Given the description of an element on the screen output the (x, y) to click on. 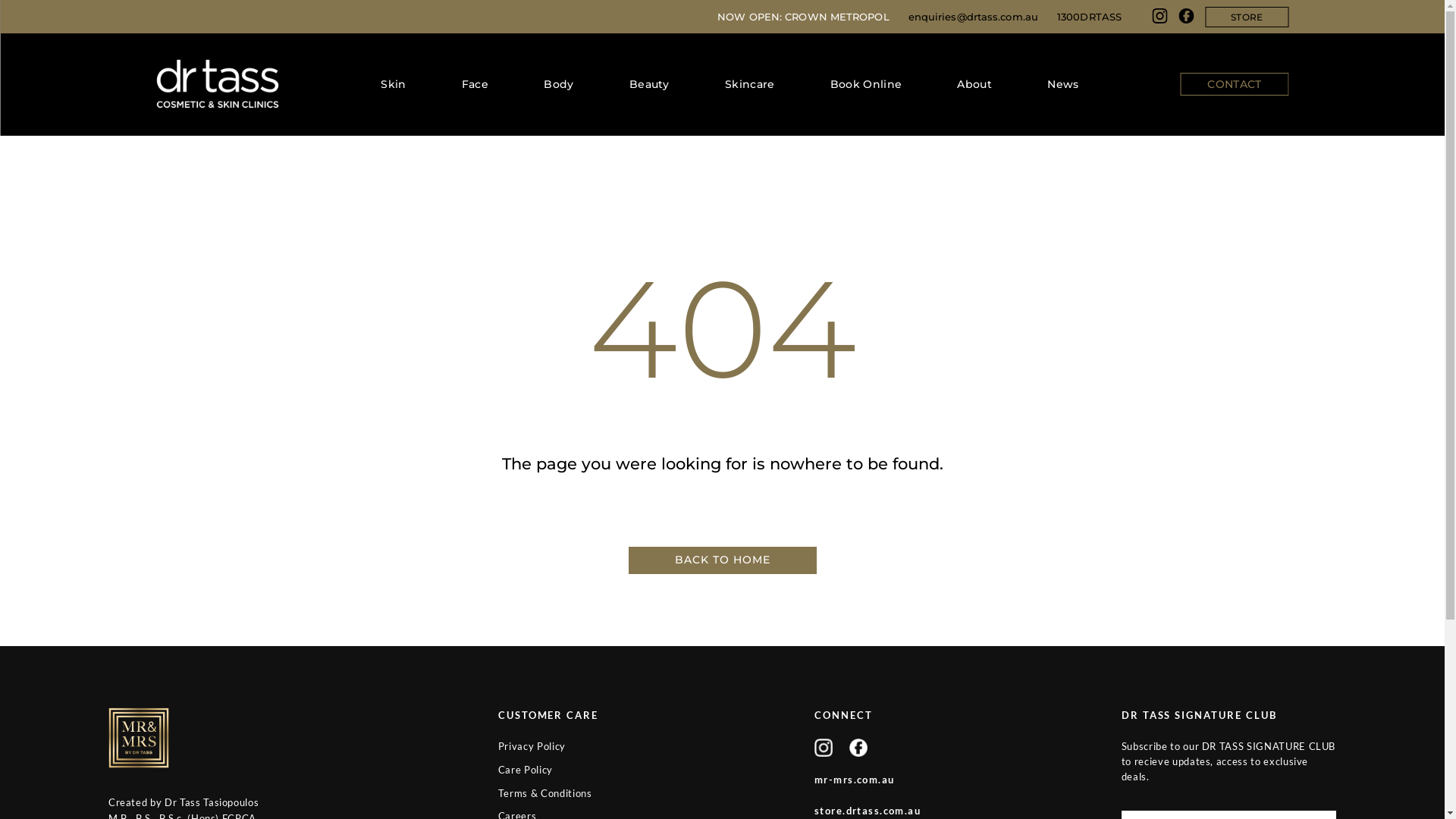
NOW OPEN: CROWN METROPOL Element type: text (802, 16)
Book Online Element type: text (865, 83)
Skin Element type: text (392, 83)
About Element type: text (974, 83)
STORE Element type: text (1246, 16)
Skincare Element type: text (749, 83)
Terms & Conditions Element type: text (545, 793)
Beauty Element type: text (649, 83)
Care Policy Element type: text (525, 769)
1300DRTASS Element type: text (1089, 16)
Body Element type: text (558, 83)
store.drtass.com.au Element type: text (867, 810)
BACK TO HOME Element type: text (721, 560)
enquiries@drtass.com.au Element type: text (973, 16)
Face Element type: text (474, 83)
CONTACT Element type: text (1233, 83)
mr-mrs.com.au Element type: text (854, 779)
Privacy Policy Element type: text (531, 746)
News Element type: text (1062, 83)
